Given the description of an element on the screen output the (x, y) to click on. 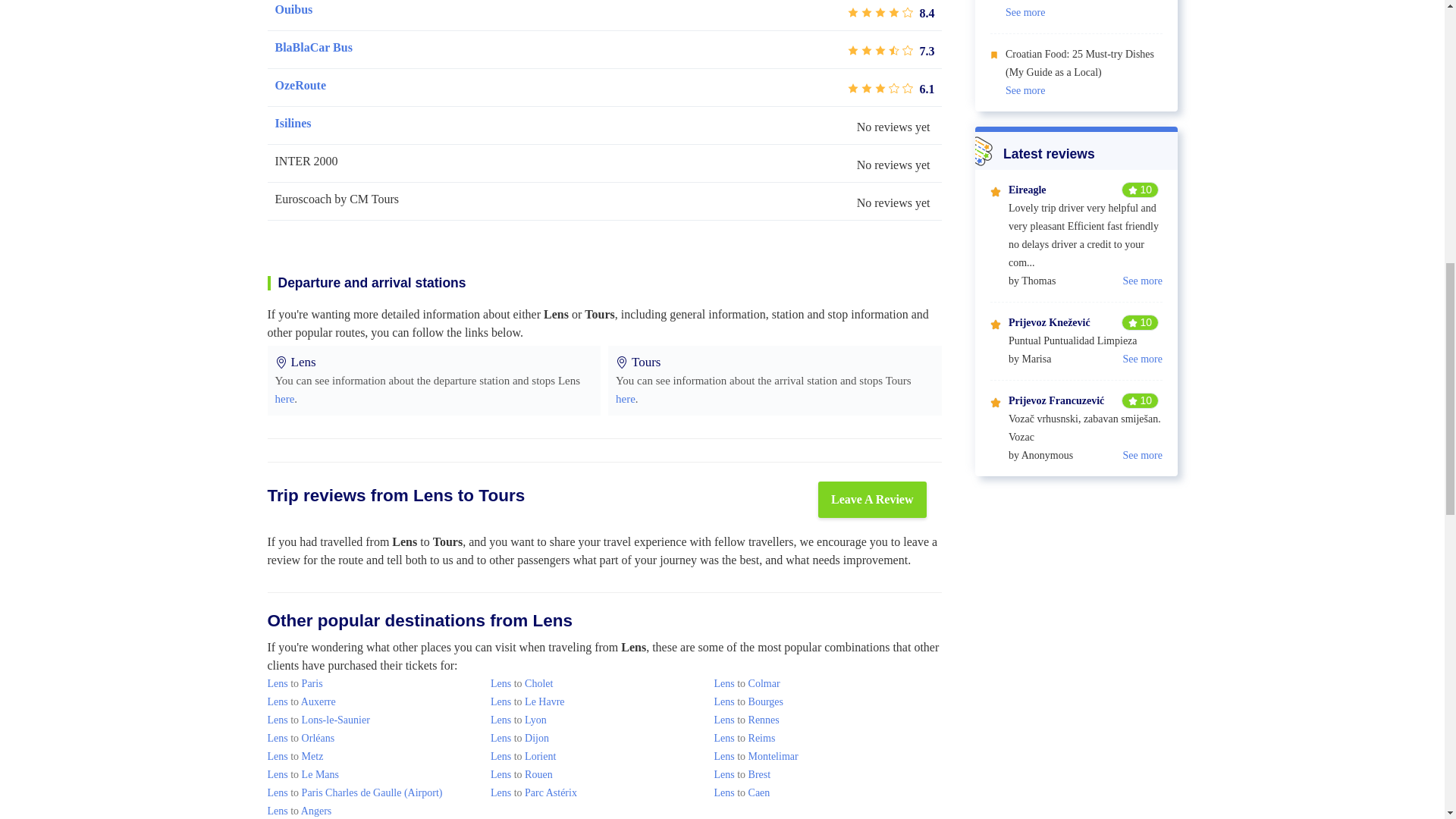
here (284, 398)
here (624, 398)
Lens to Rennes (745, 719)
BlaBlaCar Bus (313, 47)
Lens to Le Havre (527, 701)
Lens to Cholet (521, 683)
OzeRoute (300, 85)
Lens to Colmar (745, 683)
Lens to Lyon (518, 719)
Lens to Dijon (519, 737)
Lens to Lons-le-Saunier (317, 719)
Isilines (293, 123)
Lens to Bourges (748, 701)
Leave A Review (872, 499)
Lens to Auxerre (300, 701)
